Given the description of an element on the screen output the (x, y) to click on. 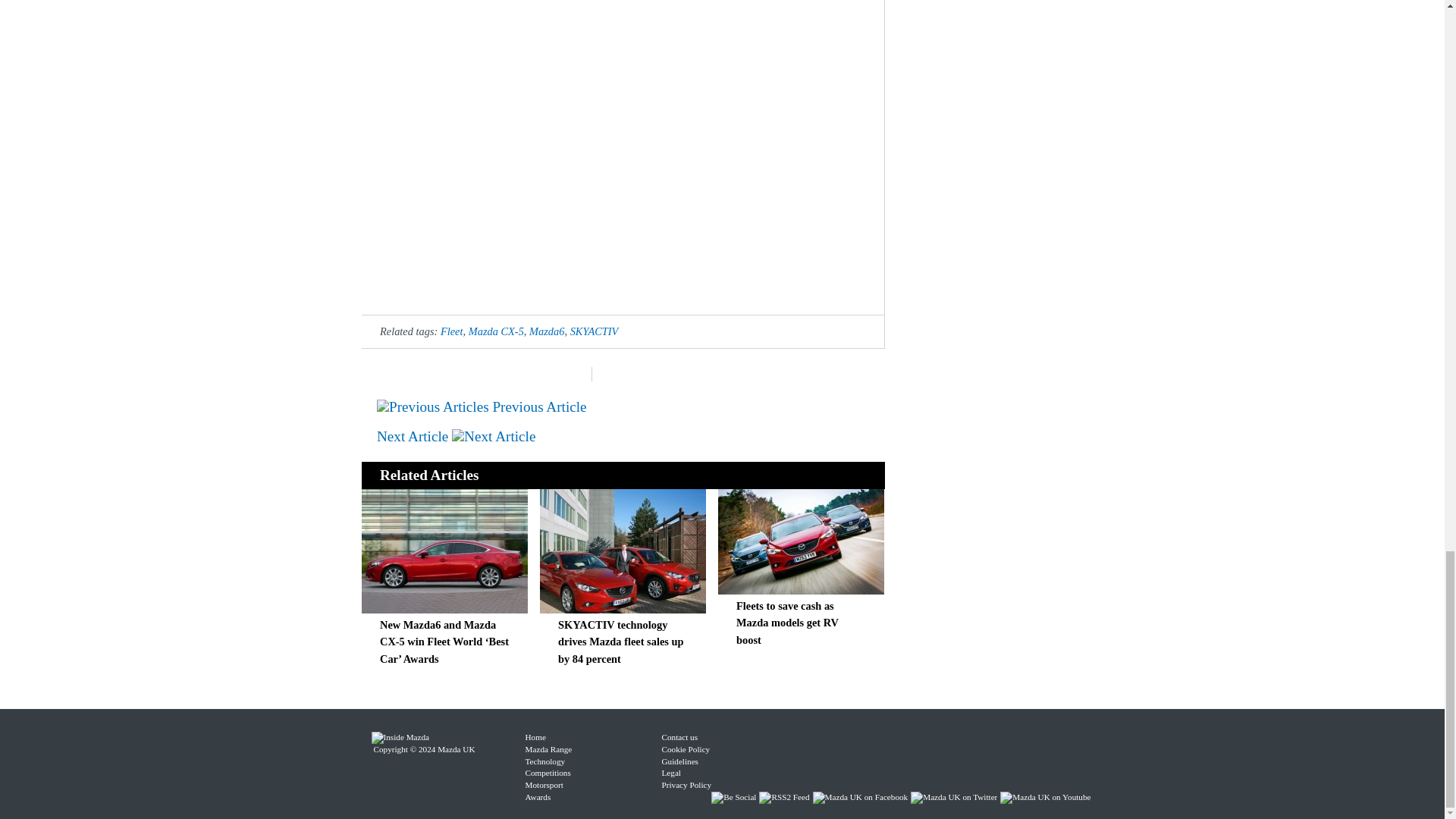
Fleet (452, 331)
Mazda CX-5 (496, 331)
Inside Mazda (400, 737)
RSS2 Feed (785, 796)
Mazda6 (546, 331)
Fleets to save cash as Mazda models get RV boost (800, 590)
Fleets to save cash as Mazda models get RV boost (787, 622)
